Given the description of an element on the screen output the (x, y) to click on. 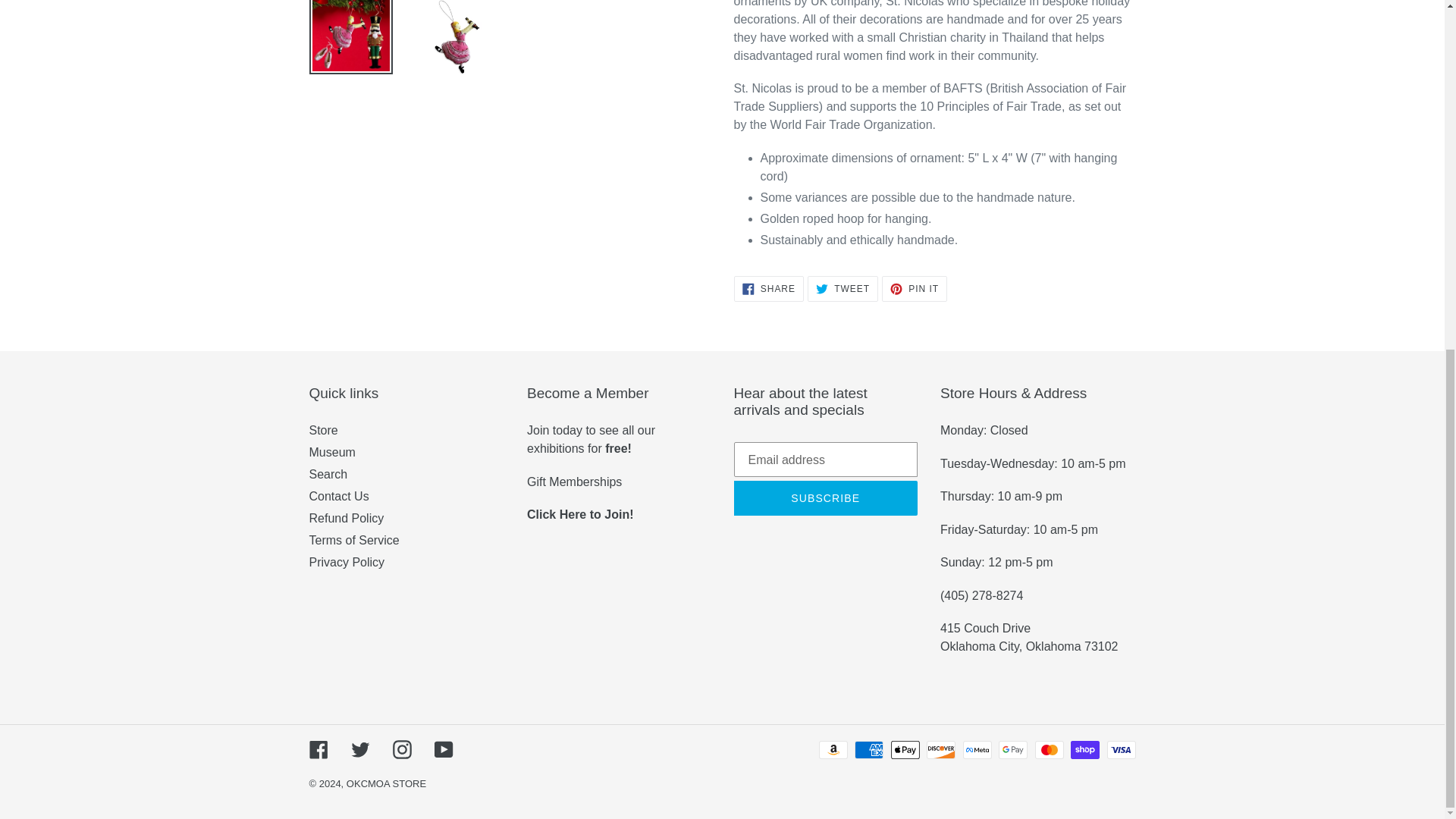
OKCMOA Gift Memberships (574, 481)
